Given the description of an element on the screen output the (x, y) to click on. 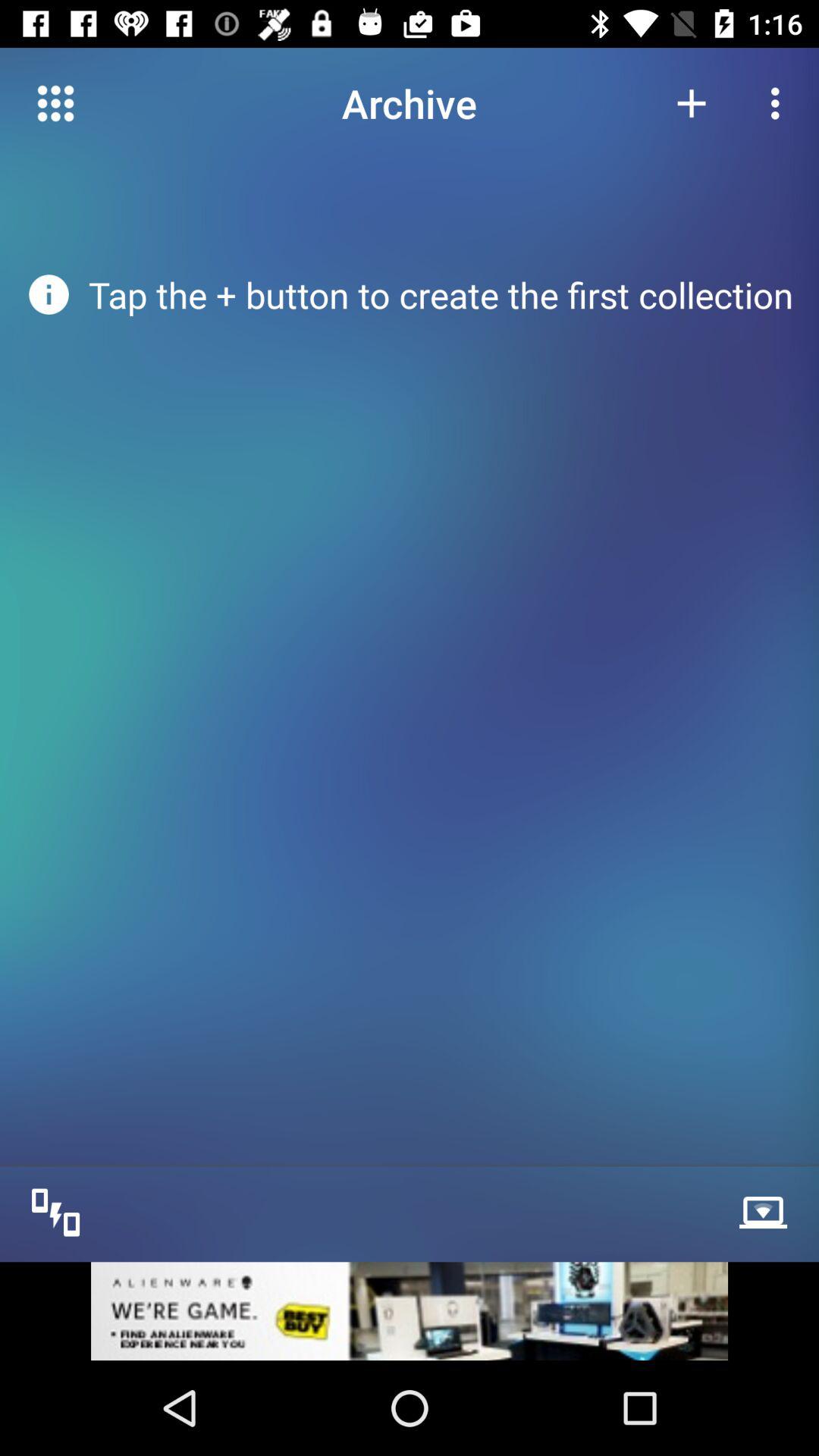
see more option (767, 1210)
